Given the description of an element on the screen output the (x, y) to click on. 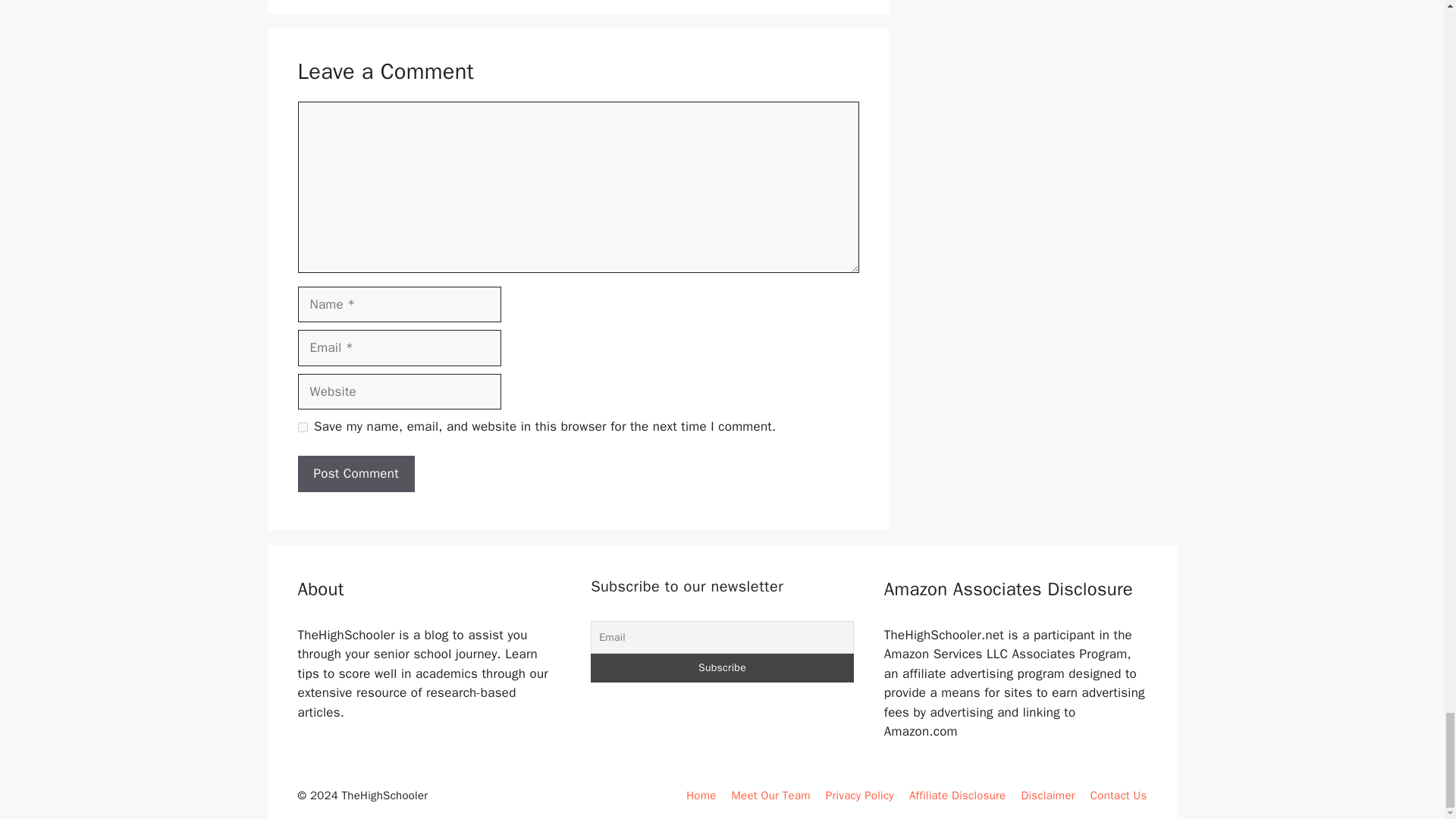
Subscribe (722, 667)
Post Comment (355, 473)
yes (302, 427)
